Given the description of an element on the screen output the (x, y) to click on. 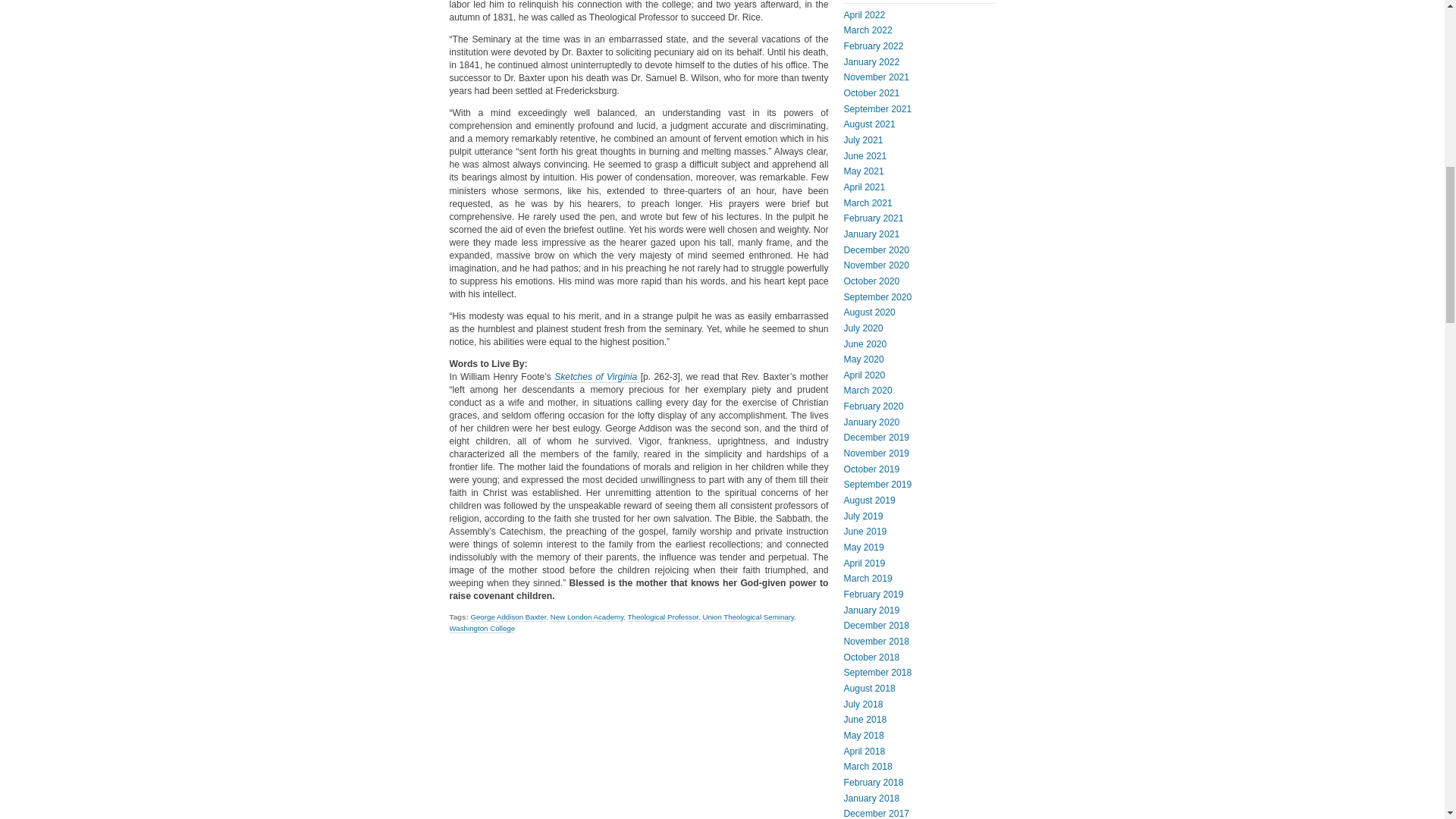
May 2021 (863, 171)
January 2022 (871, 61)
George Addison Baxter (508, 616)
April 2022 (864, 14)
New London Academy (587, 616)
April 2021 (864, 186)
March 2022 (867, 30)
February 2022 (872, 45)
June 2021 (864, 155)
August 2021 (869, 123)
